Given the description of an element on the screen output the (x, y) to click on. 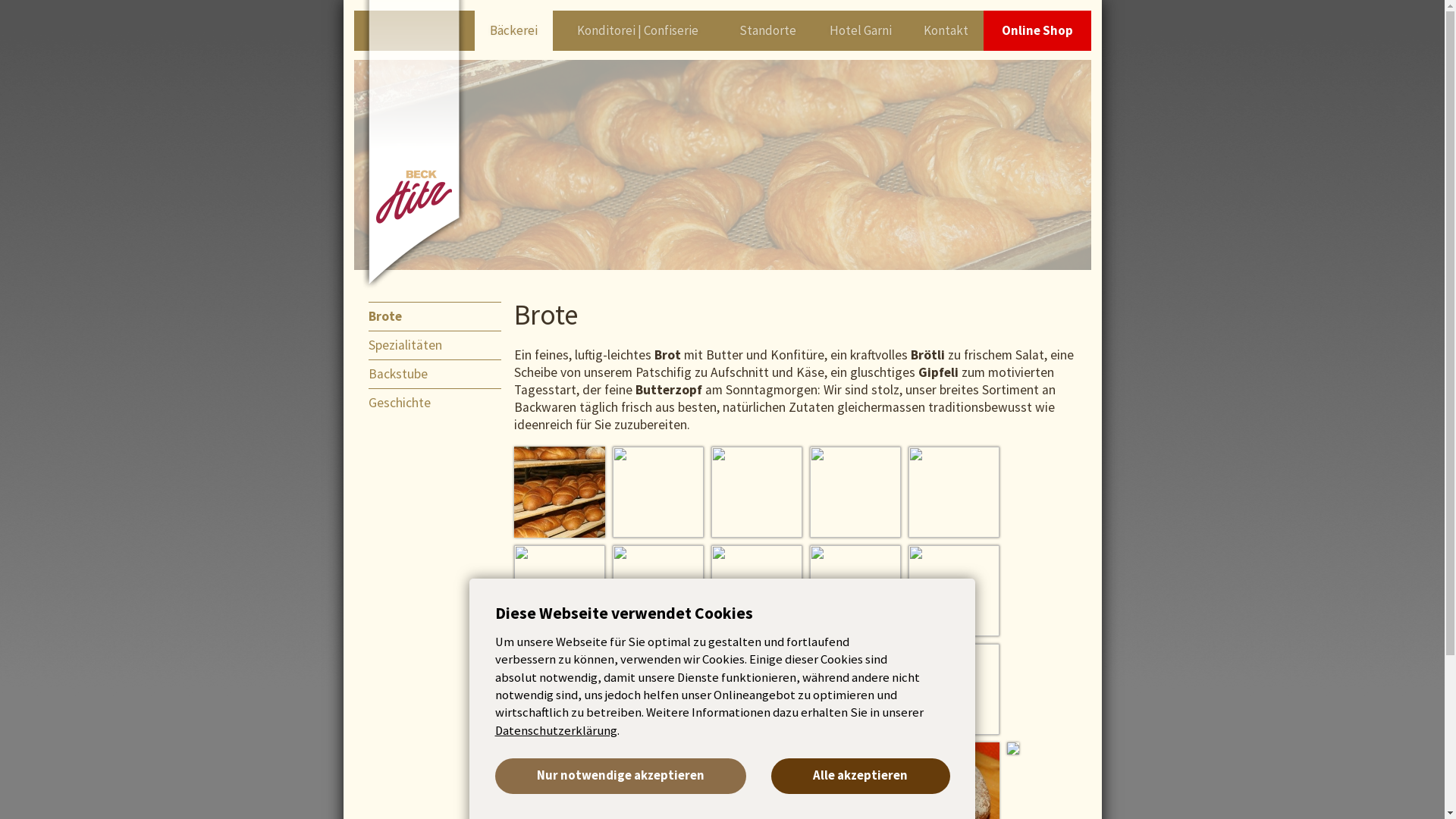
  Element type: hover (756, 590)
  Element type: hover (854, 491)
  Element type: hover (953, 688)
Kontakt Element type: text (945, 30)
  Element type: hover (854, 688)
Hotel Garni Element type: text (860, 30)
Konditorei | Confiserie Element type: text (637, 30)
  Element type: hover (854, 590)
  Element type: hover (657, 491)
Alle akzeptieren Element type: text (860, 775)
Nur notwendige akzeptieren Element type: text (619, 775)
  Element type: hover (756, 491)
  Element type: hover (559, 590)
Standorte Element type: text (767, 30)
  Element type: hover (657, 590)
  Element type: hover (953, 491)
Backstube Element type: text (441, 373)
Brote Element type: text (441, 315)
Online Shop Element type: text (1037, 30)
Geschichte Element type: text (441, 402)
  Element type: hover (657, 688)
  Element type: hover (756, 688)
  Element type: hover (953, 590)
  Element type: hover (559, 688)
  Element type: hover (559, 491)
